Given the description of an element on the screen output the (x, y) to click on. 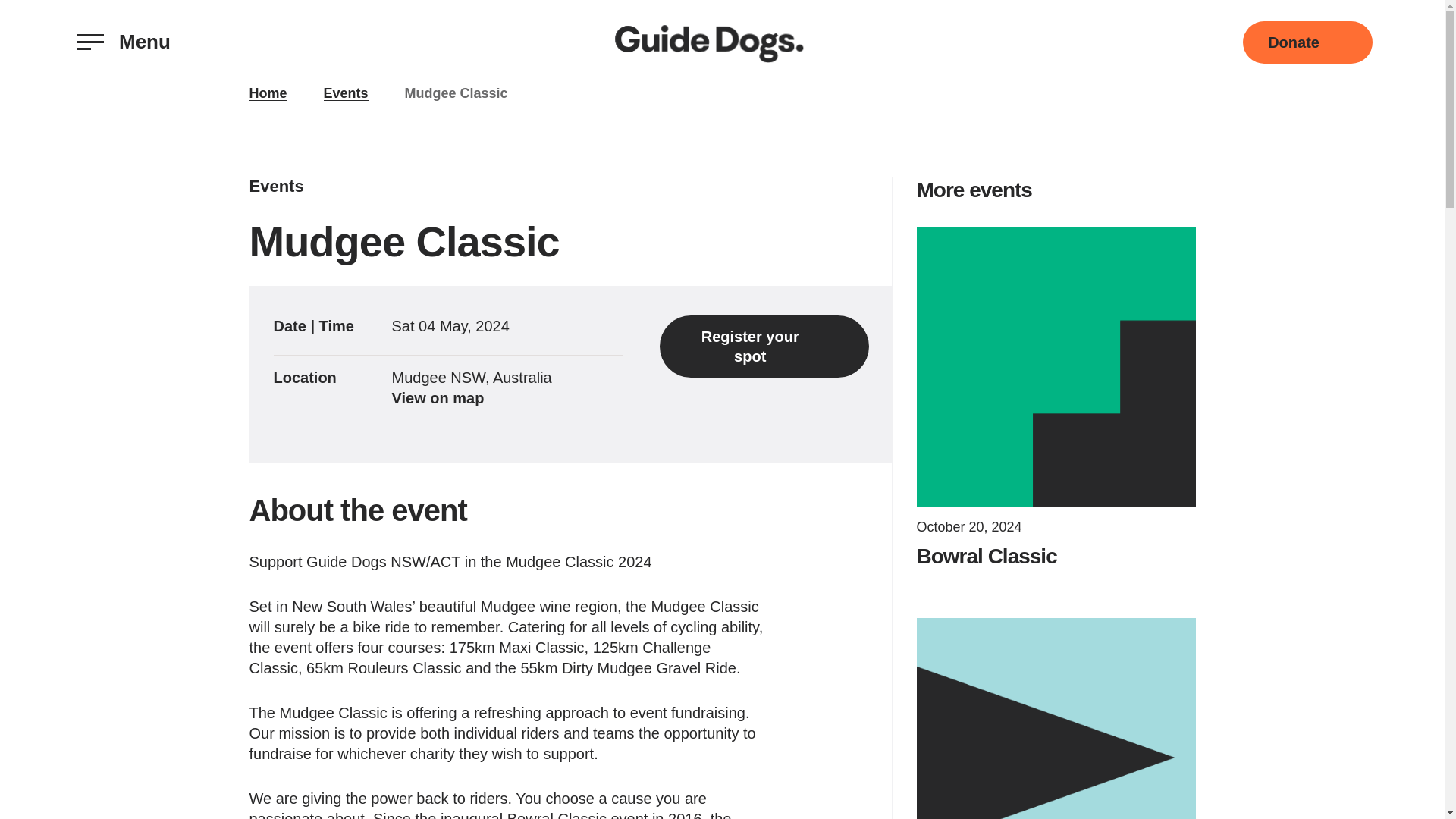
Menu (123, 41)
Donate (1307, 41)
